Given the description of an element on the screen output the (x, y) to click on. 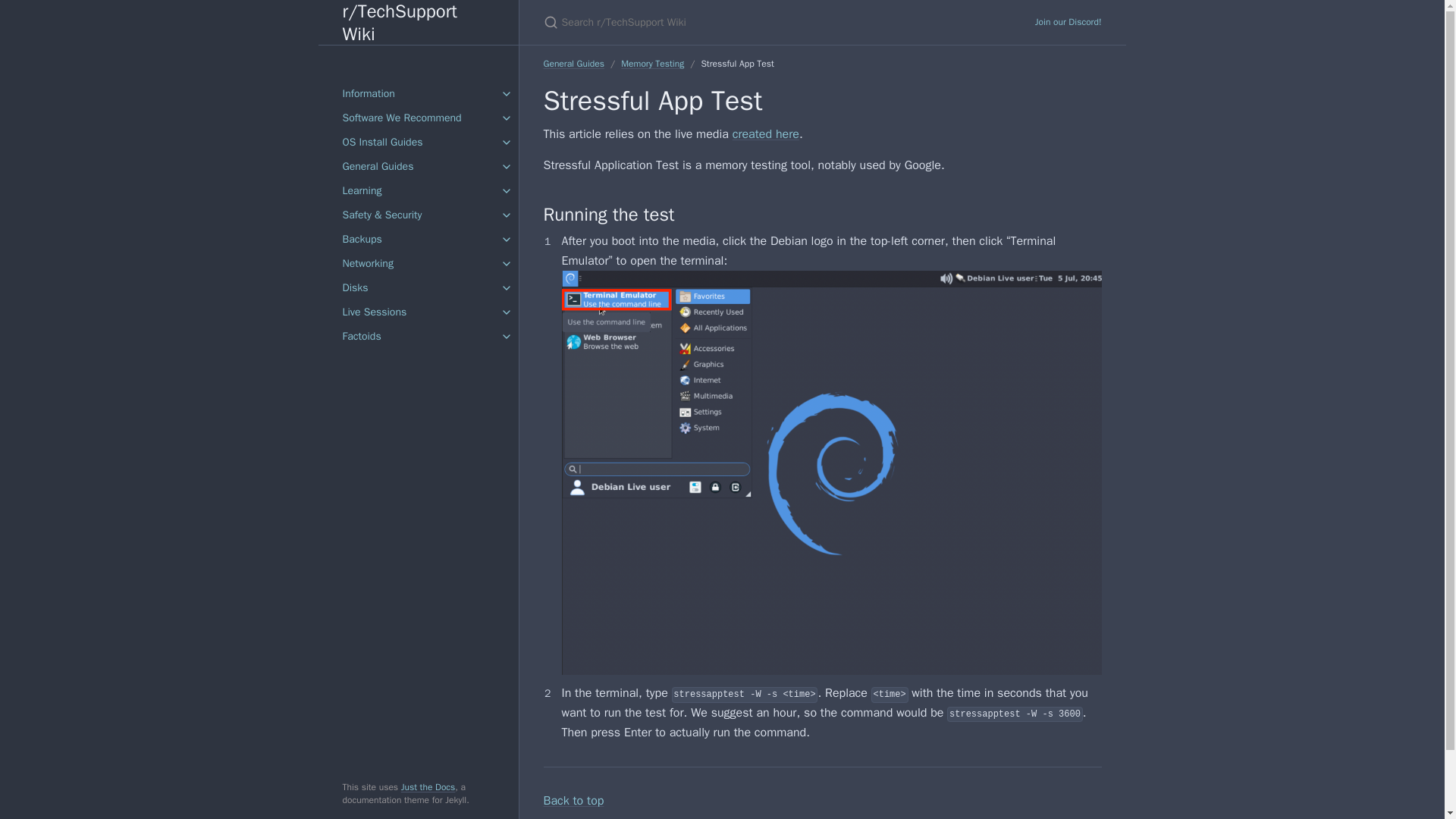
General Guides (418, 166)
Information (418, 93)
OS Install Guides (418, 142)
Software We Recommend (418, 118)
